Given the description of an element on the screen output the (x, y) to click on. 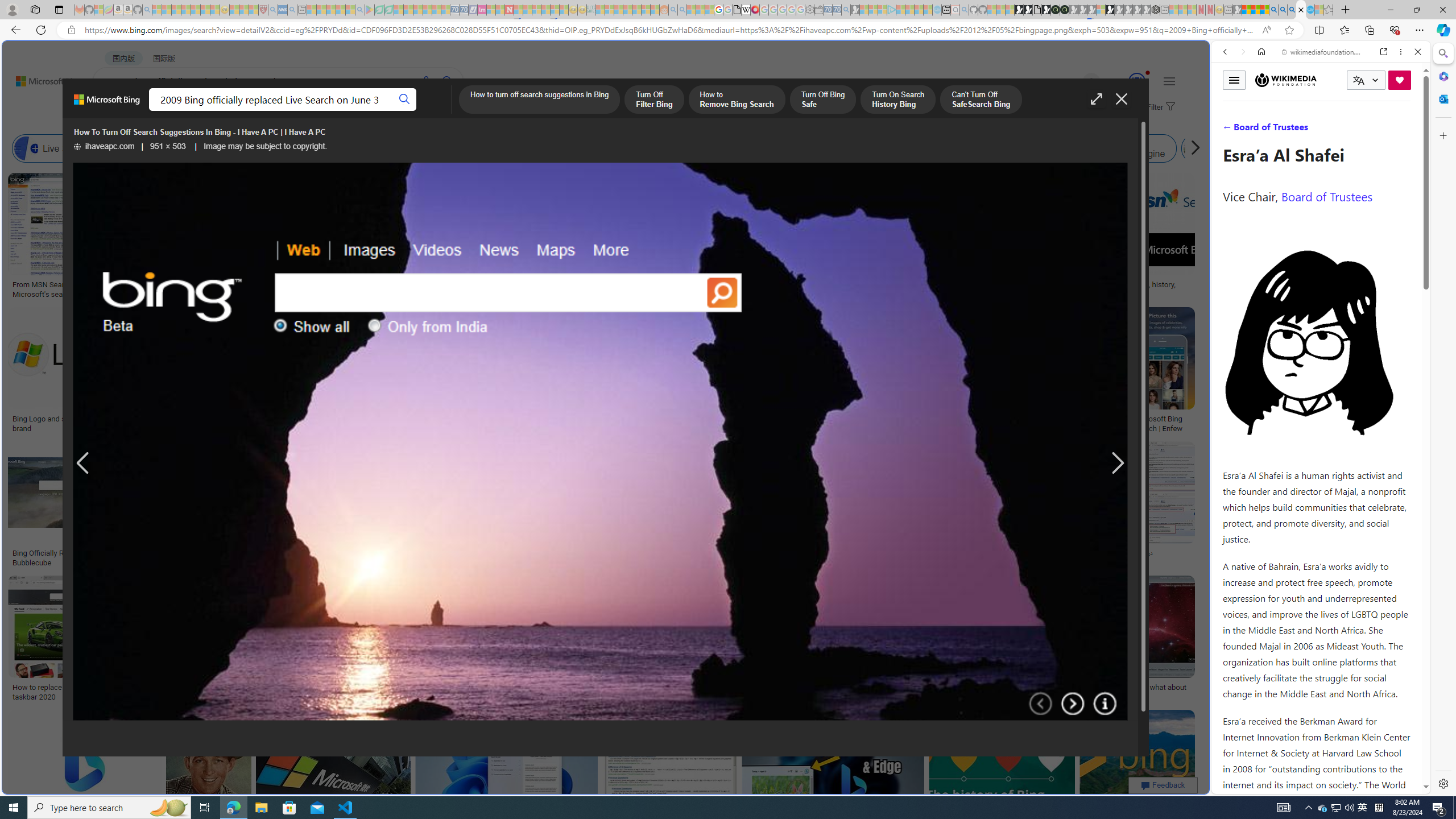
Microsoft Bing, Back to Bing search (106, 104)
Search Filter, Search Tools (1350, 129)
Bluey: Let's Play! - Apps on Google Play - Sleeping (369, 9)
Toggle menu (1233, 80)
Tabs you've opened (885, 151)
microsoft bing (1043, 419)
Bing Logo, symbol, meaning, history, PNG, brand (1124, 289)
Live Search (57, 148)
